Given the description of an element on the screen output the (x, y) to click on. 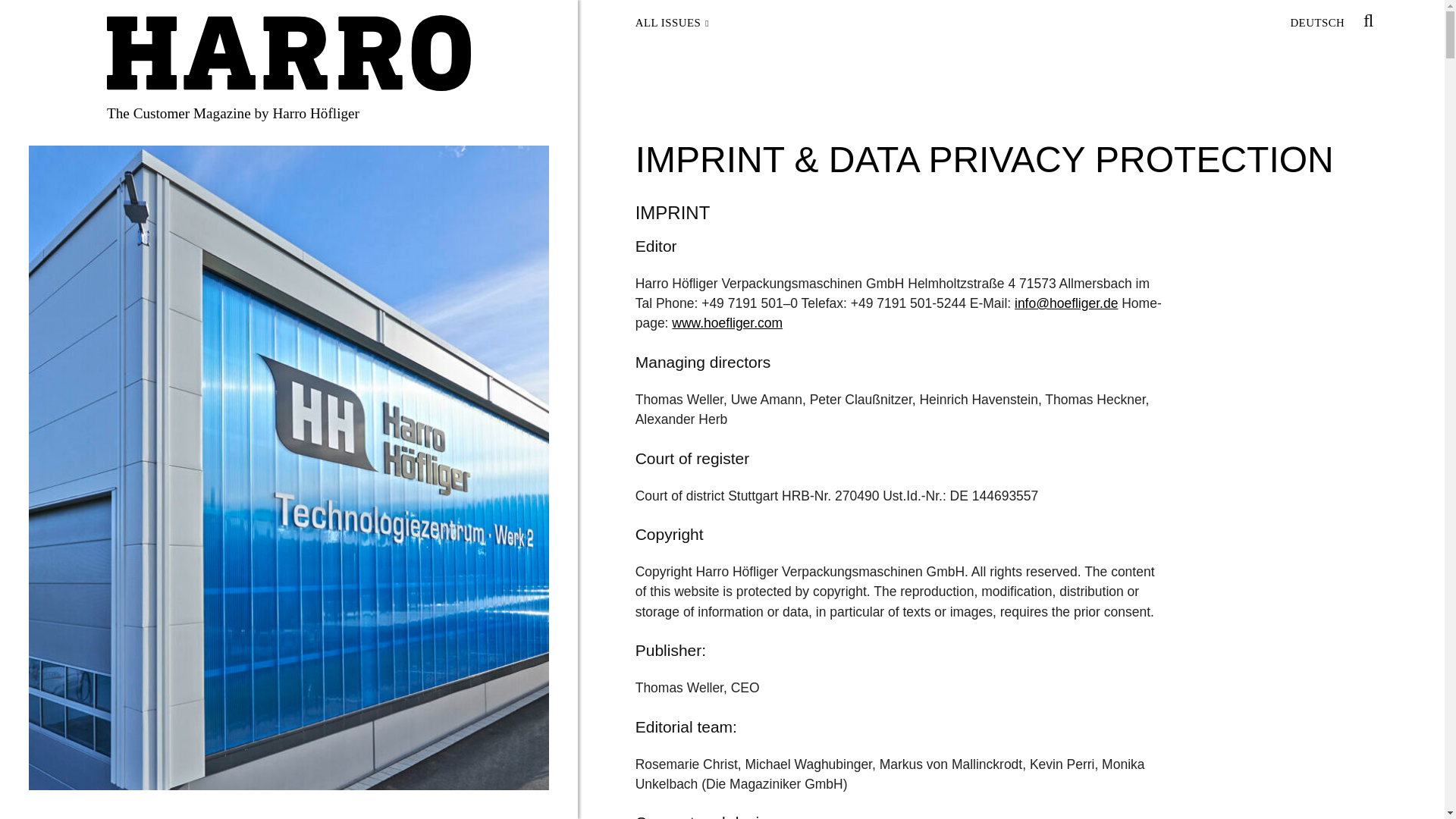
ALL ISSUES (677, 24)
Homepage (288, 52)
www.hoefliger.com (727, 322)
DEUTSCH (1316, 24)
